Given the description of an element on the screen output the (x, y) to click on. 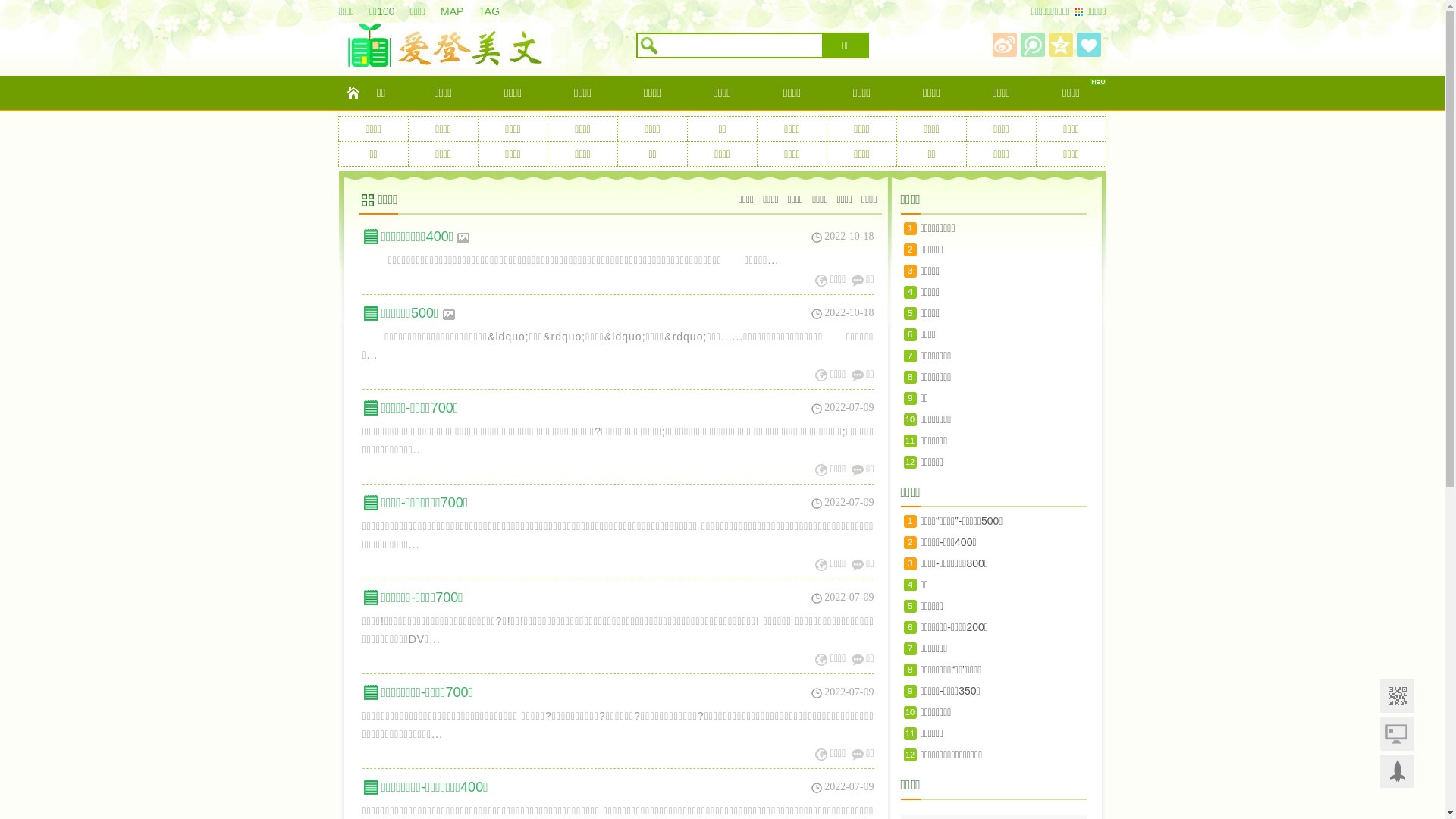
TAG Element type: text (496, 11)
MAP Element type: text (459, 11)
